Given the description of an element on the screen output the (x, y) to click on. 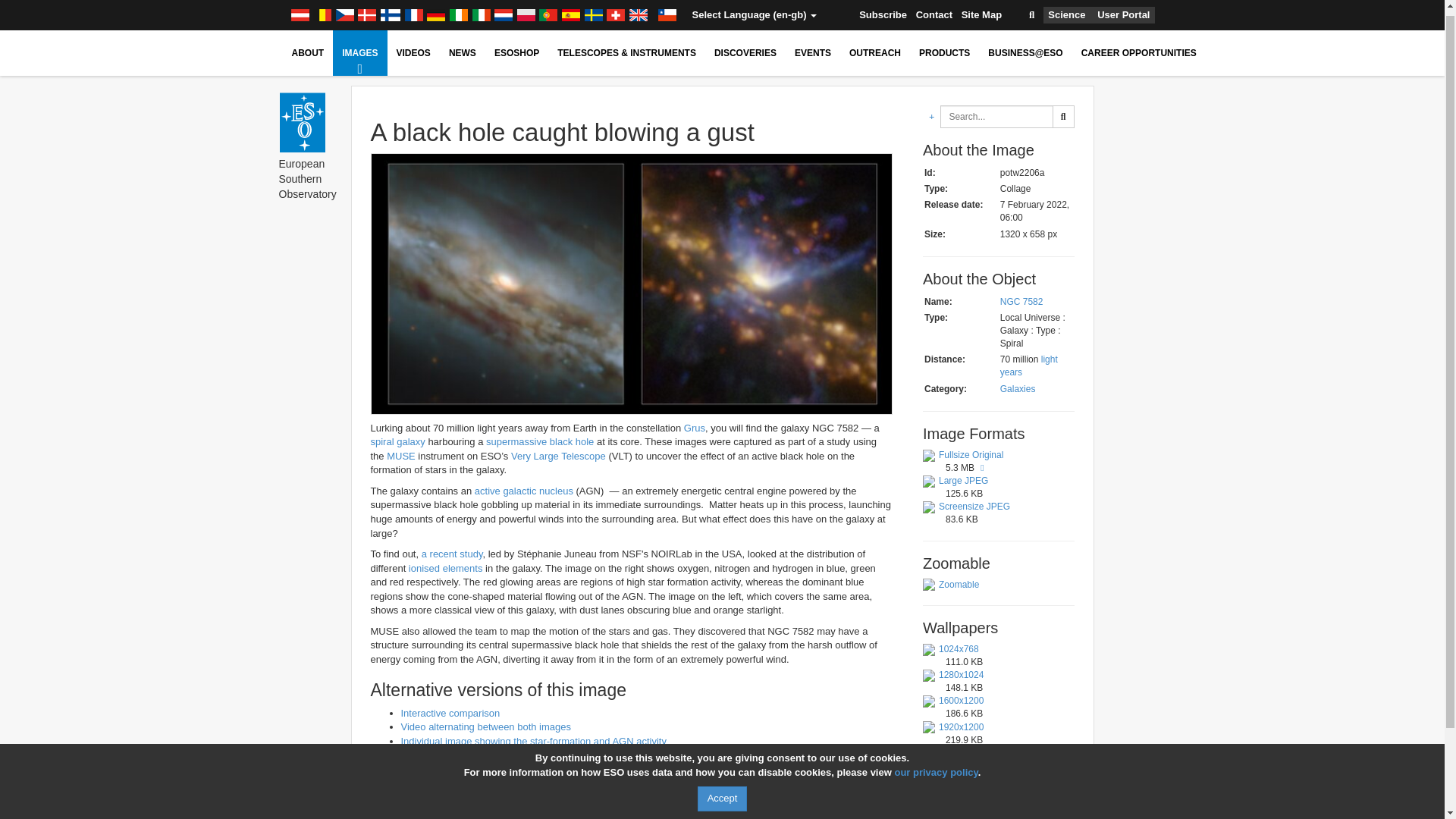
France (413, 8)
Germany (435, 8)
Czechia (344, 8)
Netherlands (503, 8)
Contact (933, 12)
Ireland (458, 8)
Finland (390, 8)
Site Map (981, 12)
User Portal (1123, 8)
Belgium (322, 8)
Spain (570, 8)
our privacy policy (934, 766)
Science (1066, 8)
Sweden (593, 8)
Denmark (366, 8)
